Given the description of an element on the screen output the (x, y) to click on. 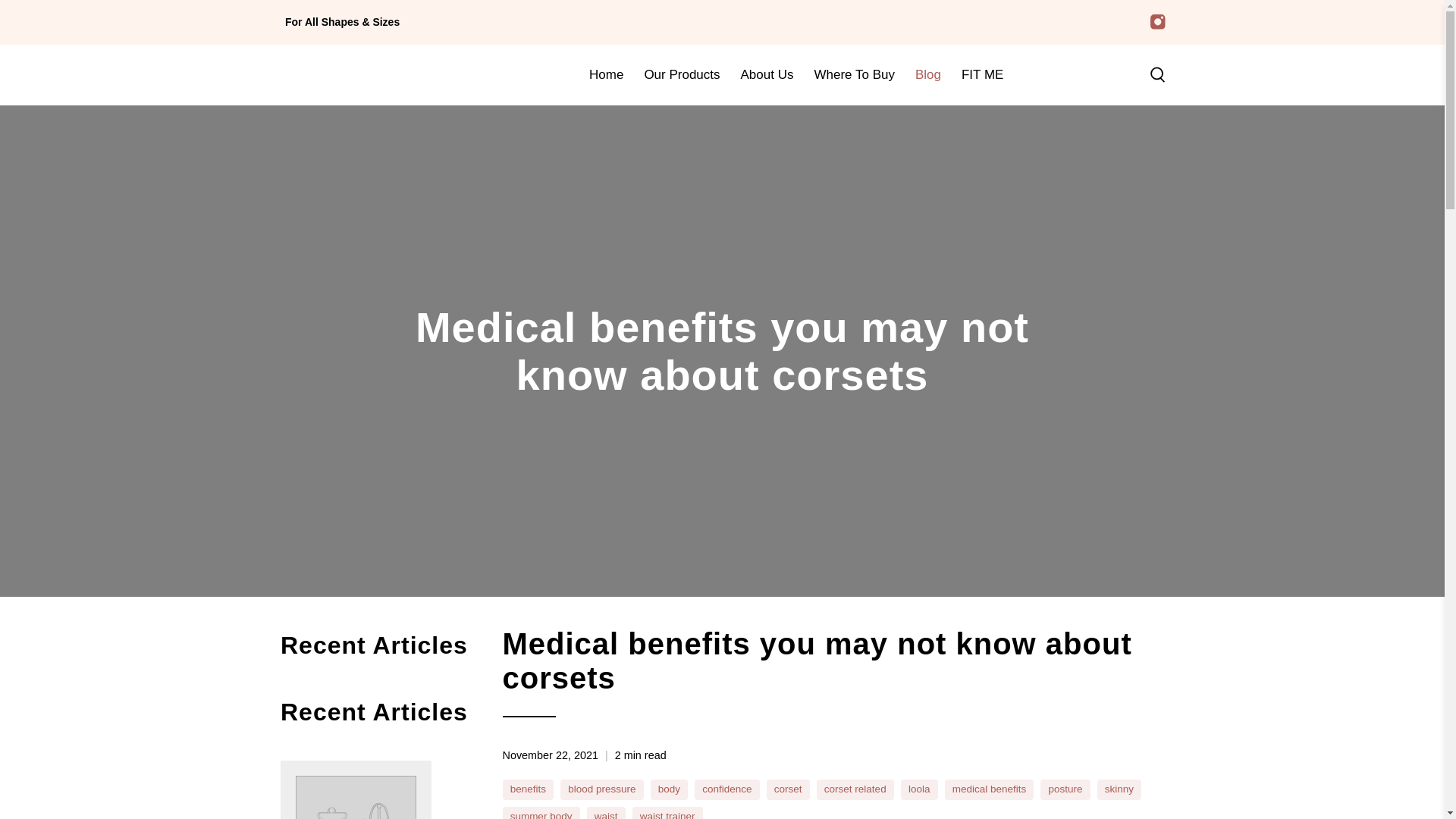
summer body (541, 814)
LOOLA on Instagram (1158, 21)
LOOLA BLOG tagged skinny (1119, 789)
LOOLA BLOG tagged corset related (855, 789)
About Us (766, 74)
corset related (855, 789)
posture (1064, 789)
LOOLA BLOG tagged confidence (726, 789)
LOOLA BLOG tagged waist (605, 814)
body (668, 789)
blood pressure (600, 789)
loola (919, 789)
Our Products (681, 74)
LOOLA BLOG tagged medical benefits (989, 789)
LOOLA BLOG tagged benefits (528, 789)
